Given the description of an element on the screen output the (x, y) to click on. 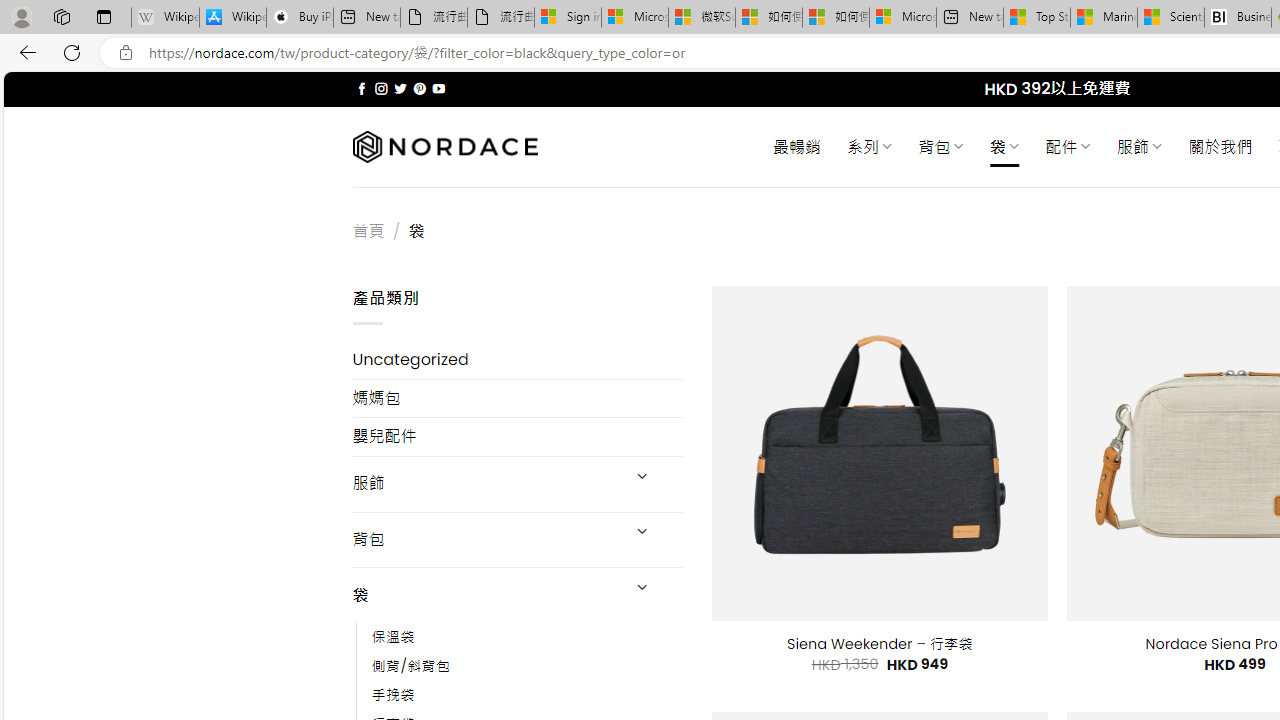
Marine life - MSN (1103, 17)
Follow on Facebook (361, 88)
Follow on YouTube (438, 88)
Uncategorized (517, 359)
